Given the description of an element on the screen output the (x, y) to click on. 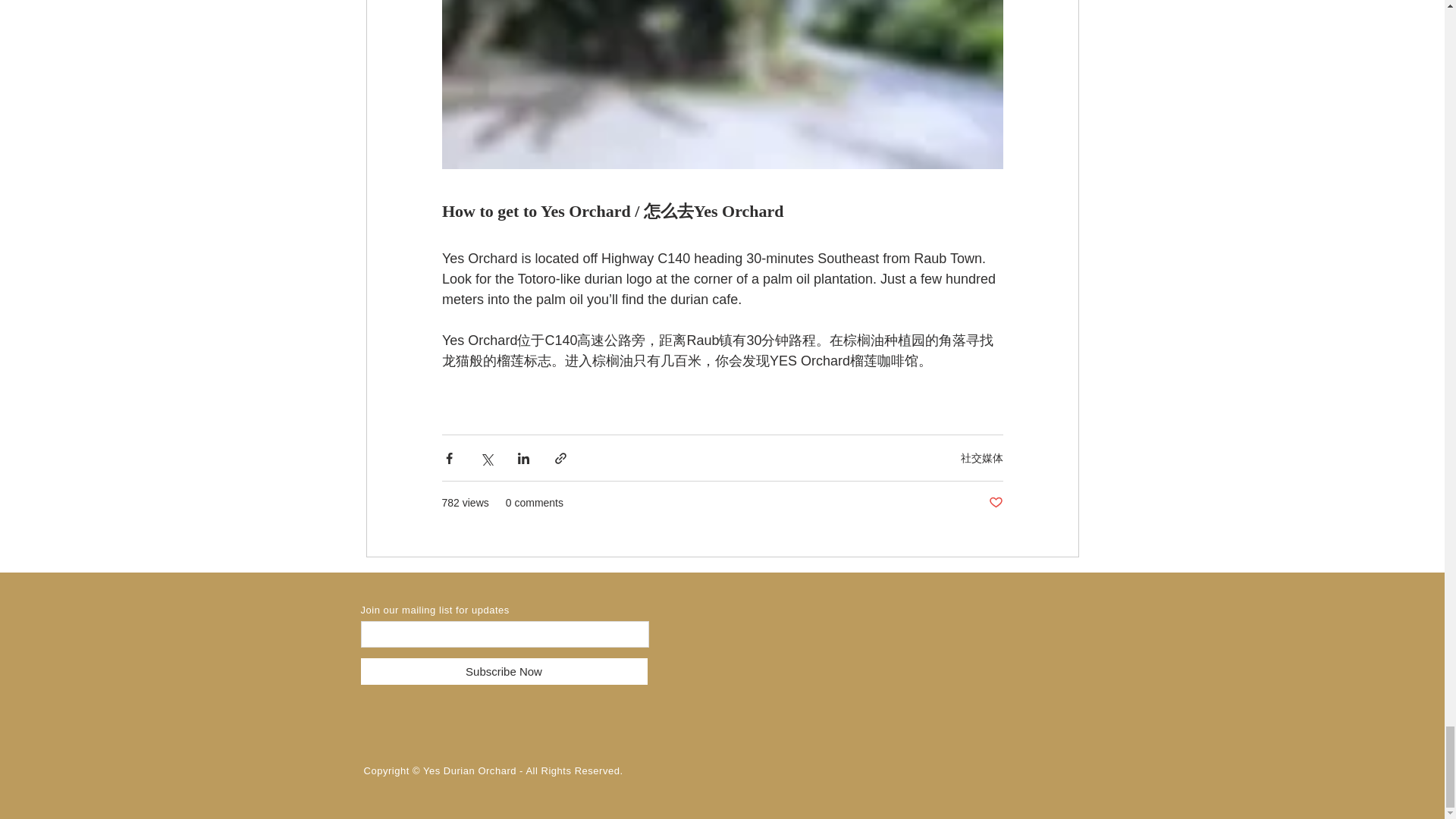
Post not marked as liked (995, 503)
Subscribe Now (504, 671)
